Given the description of an element on the screen output the (x, y) to click on. 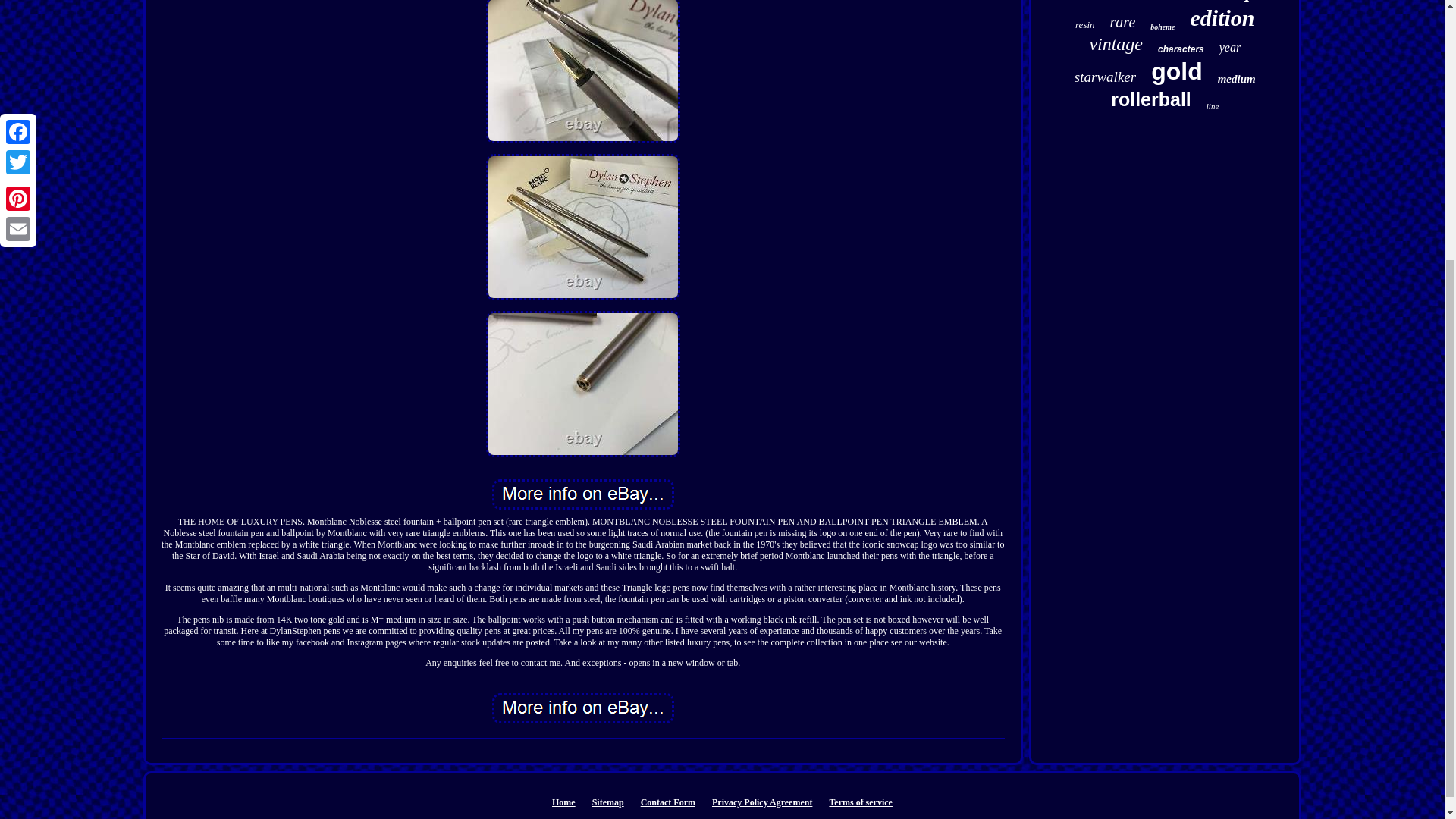
edition (1221, 17)
boheme (1162, 26)
classique (1232, 1)
montblanc (1122, 1)
resin (1084, 24)
rare (1122, 22)
vintage (1115, 44)
